Given the description of an element on the screen output the (x, y) to click on. 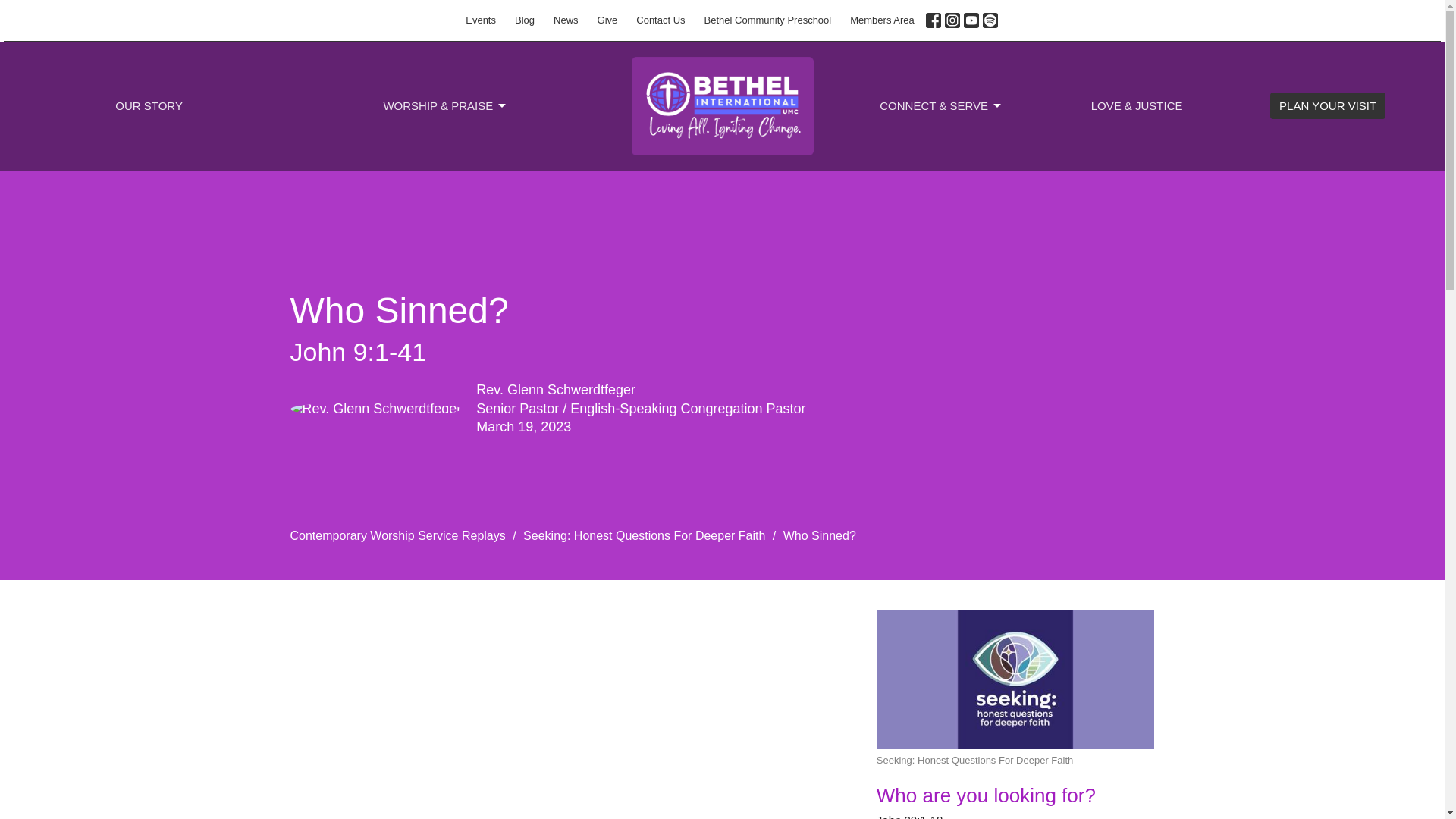
Give (607, 20)
Contact Us (660, 20)
OUR STORY (149, 105)
Contemporary Worship Service Replays (397, 535)
Seeking: Honest Questions For Deeper Faith (643, 535)
PLAN YOUR VISIT (1327, 105)
Members Area (882, 20)
News (566, 20)
Bethel Community Preschool (768, 20)
Events (480, 20)
